Given the description of an element on the screen output the (x, y) to click on. 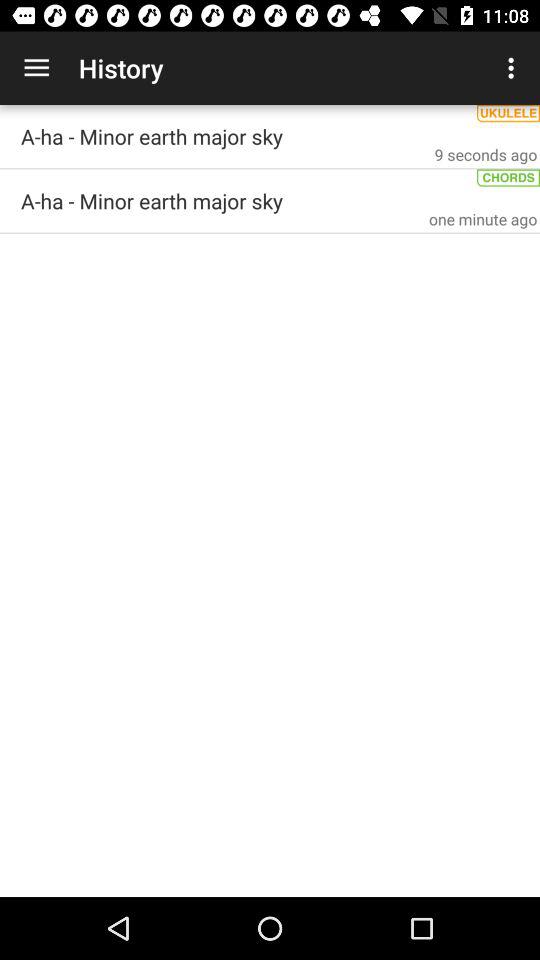
click app to the right of the history (513, 67)
